Given the description of an element on the screen output the (x, y) to click on. 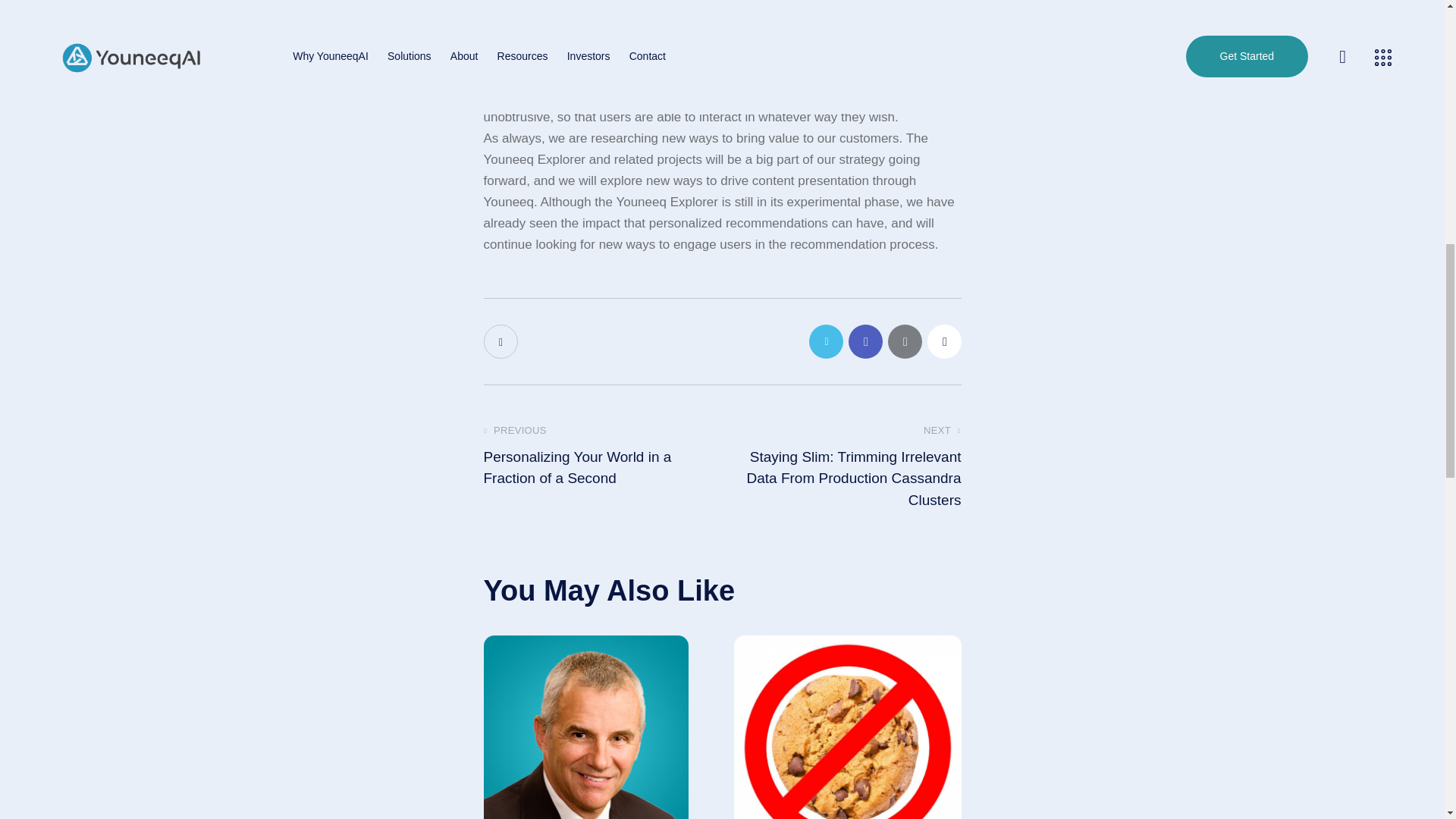
Copy URL to clipboard (943, 341)
Like (502, 341)
